Given the description of an element on the screen output the (x, y) to click on. 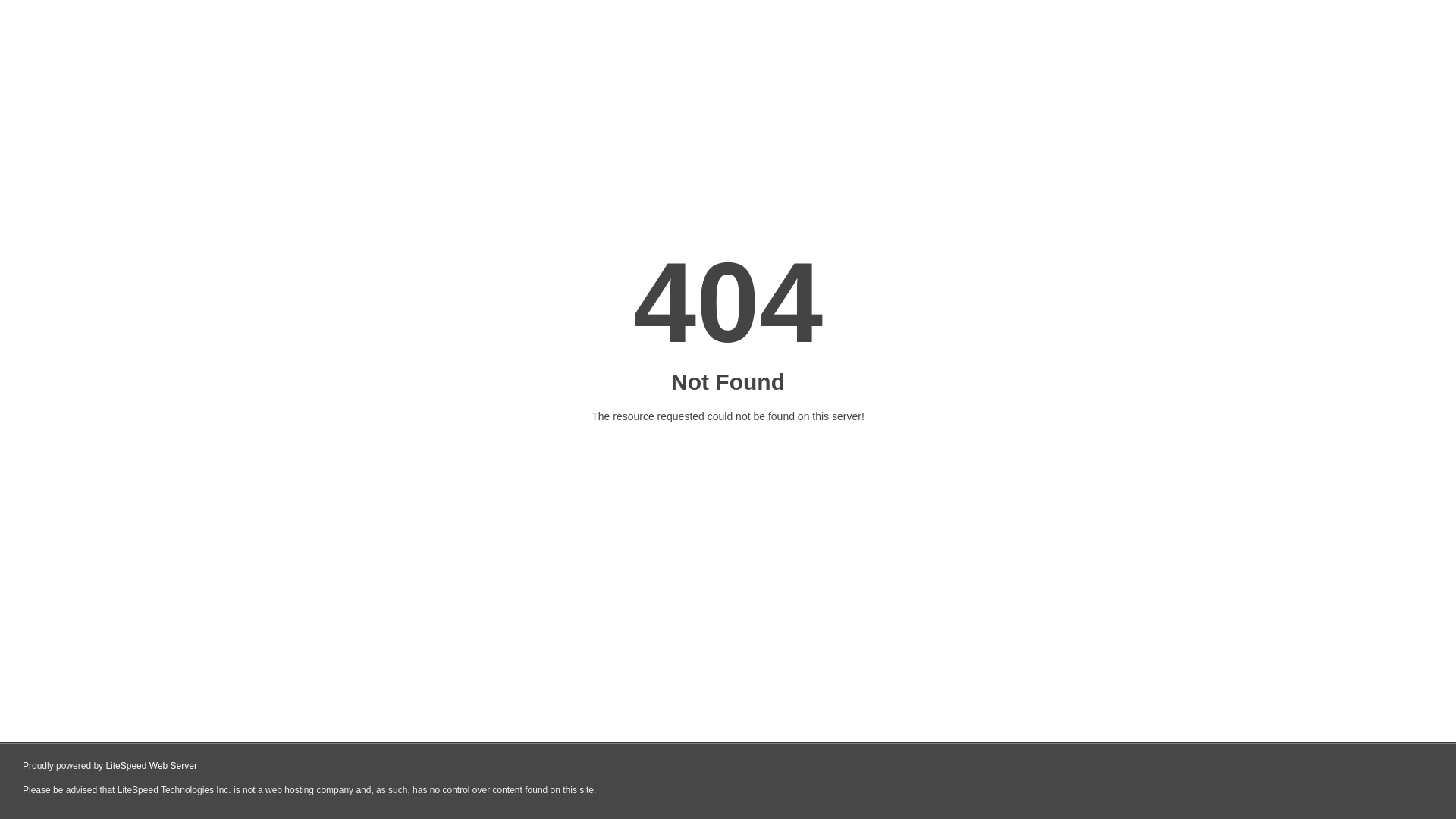
LiteSpeed Web Server Element type: text (151, 765)
